Given the description of an element on the screen output the (x, y) to click on. 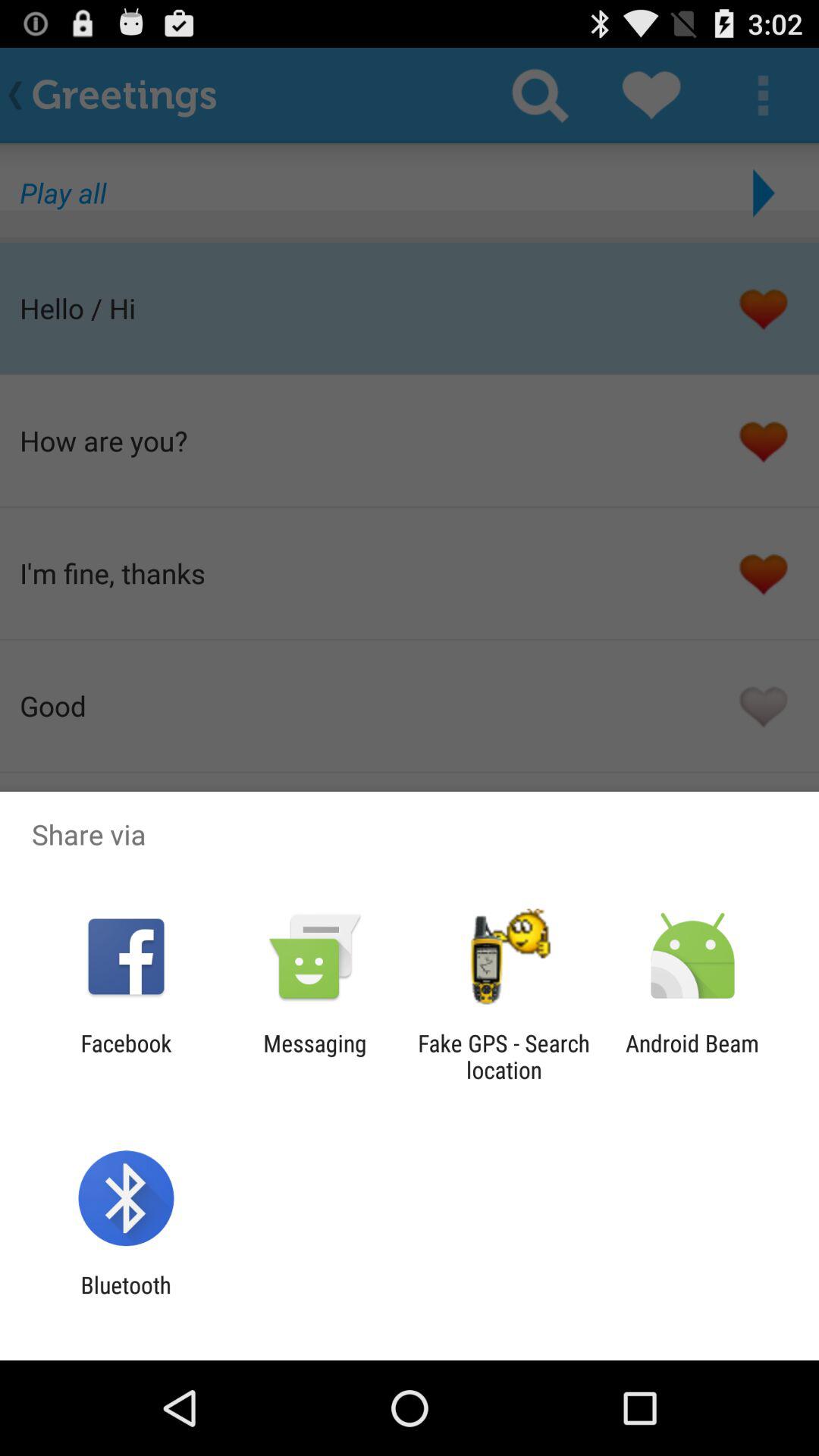
turn on icon next to the messaging item (125, 1056)
